Given the description of an element on the screen output the (x, y) to click on. 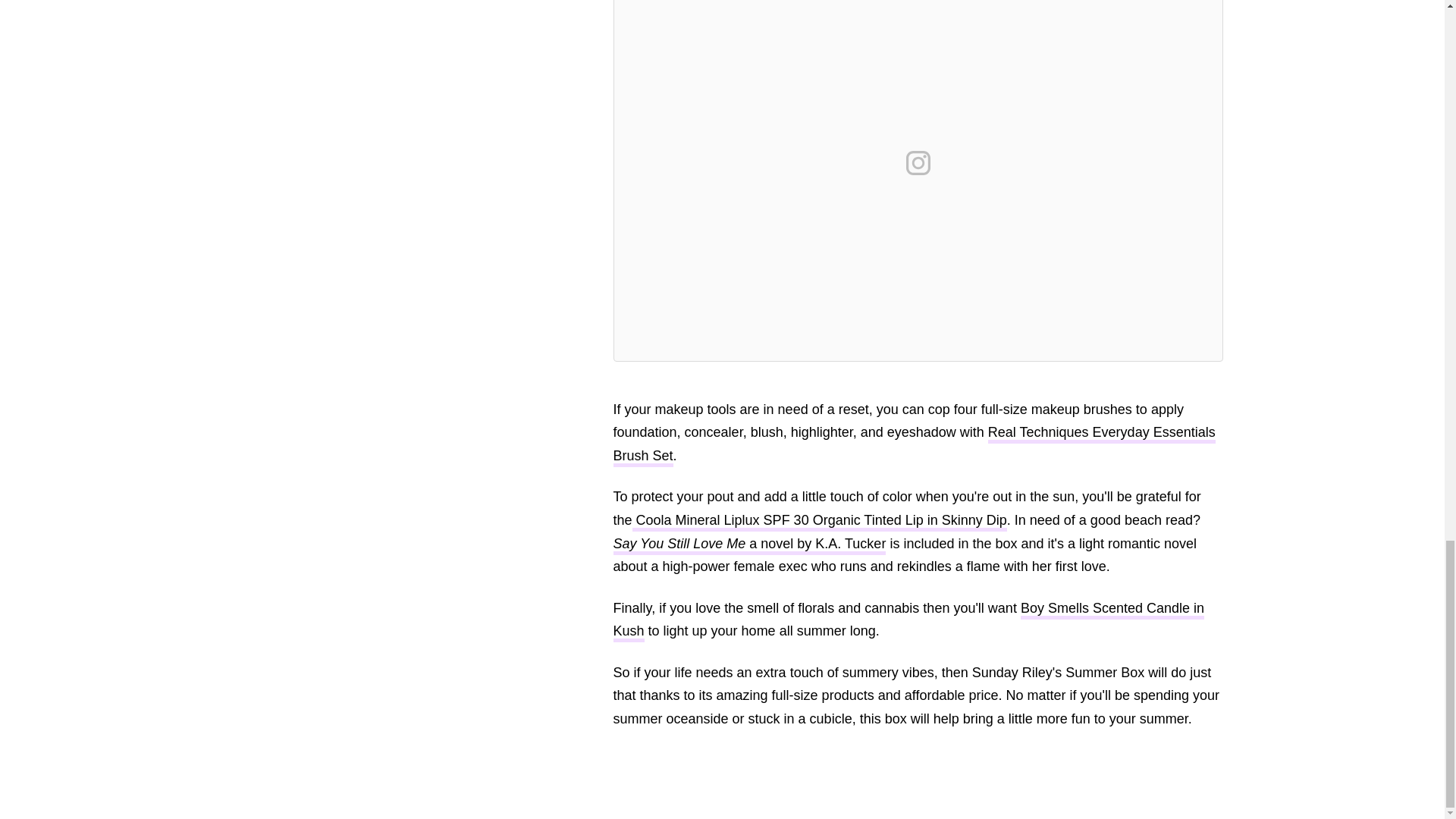
Real Techniques Everyday Essentials Brush Set (913, 445)
Say You Still Love Me a novel by K.A. Tucker (905, 556)
Coola Mineral Liplux SPF 30 Organic Tinted Lip in Skinny Dip (819, 521)
Boy Smells Scented Candle in Kush (908, 621)
View on Instagram (917, 162)
